Given the description of an element on the screen output the (x, y) to click on. 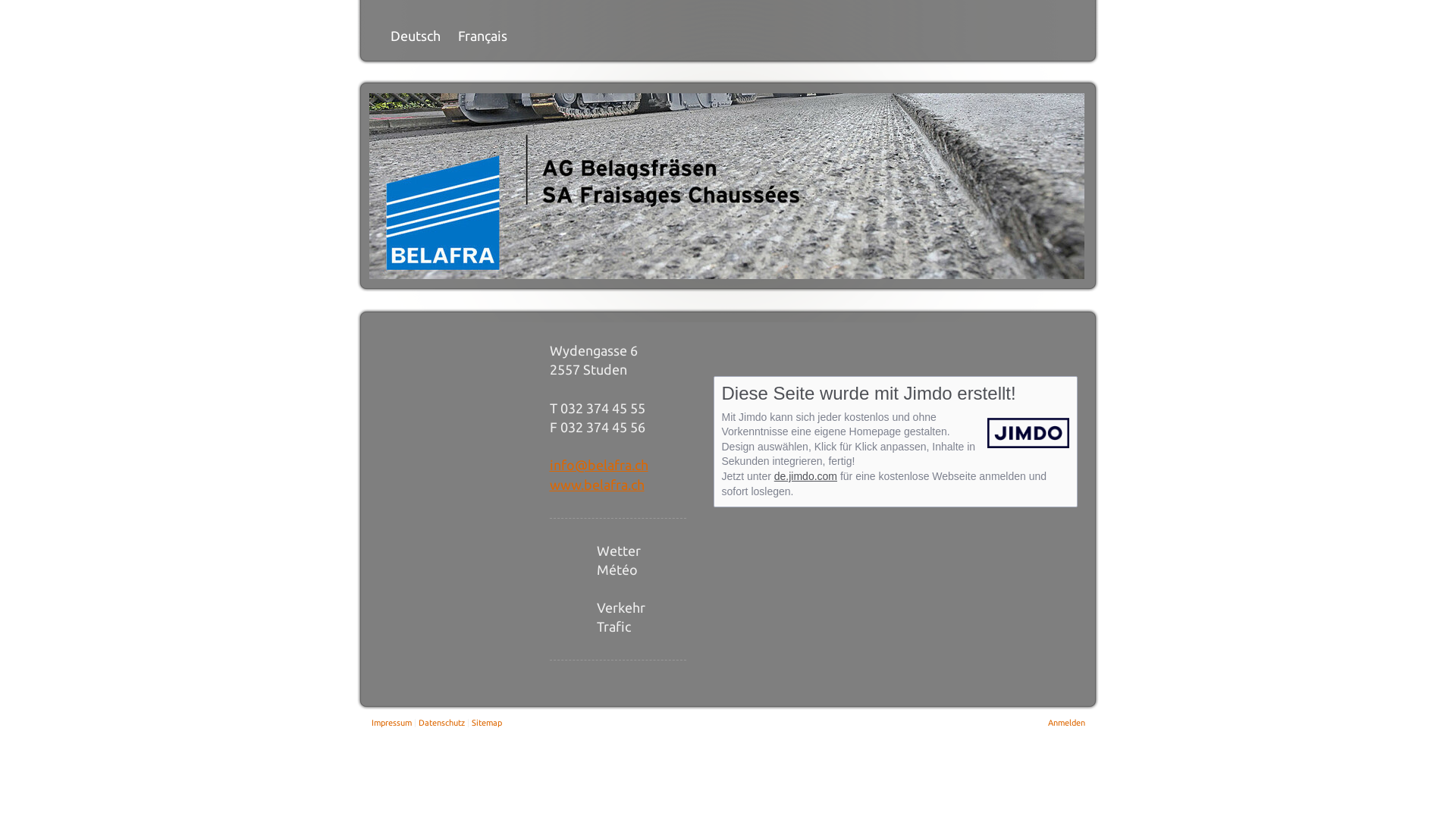
www.belafra.ch Element type: text (596, 483)
Jimdo Element type: hover (1024, 432)
Impressum Element type: text (391, 722)
Deutsch Element type: text (417, 27)
Datenschutz Element type: text (441, 722)
Anmelden Element type: text (1066, 722)
info@belafra.ch Element type: text (598, 464)
de.jimdo.com Element type: text (805, 476)
Sitemap Element type: text (486, 722)
